Given the description of an element on the screen output the (x, y) to click on. 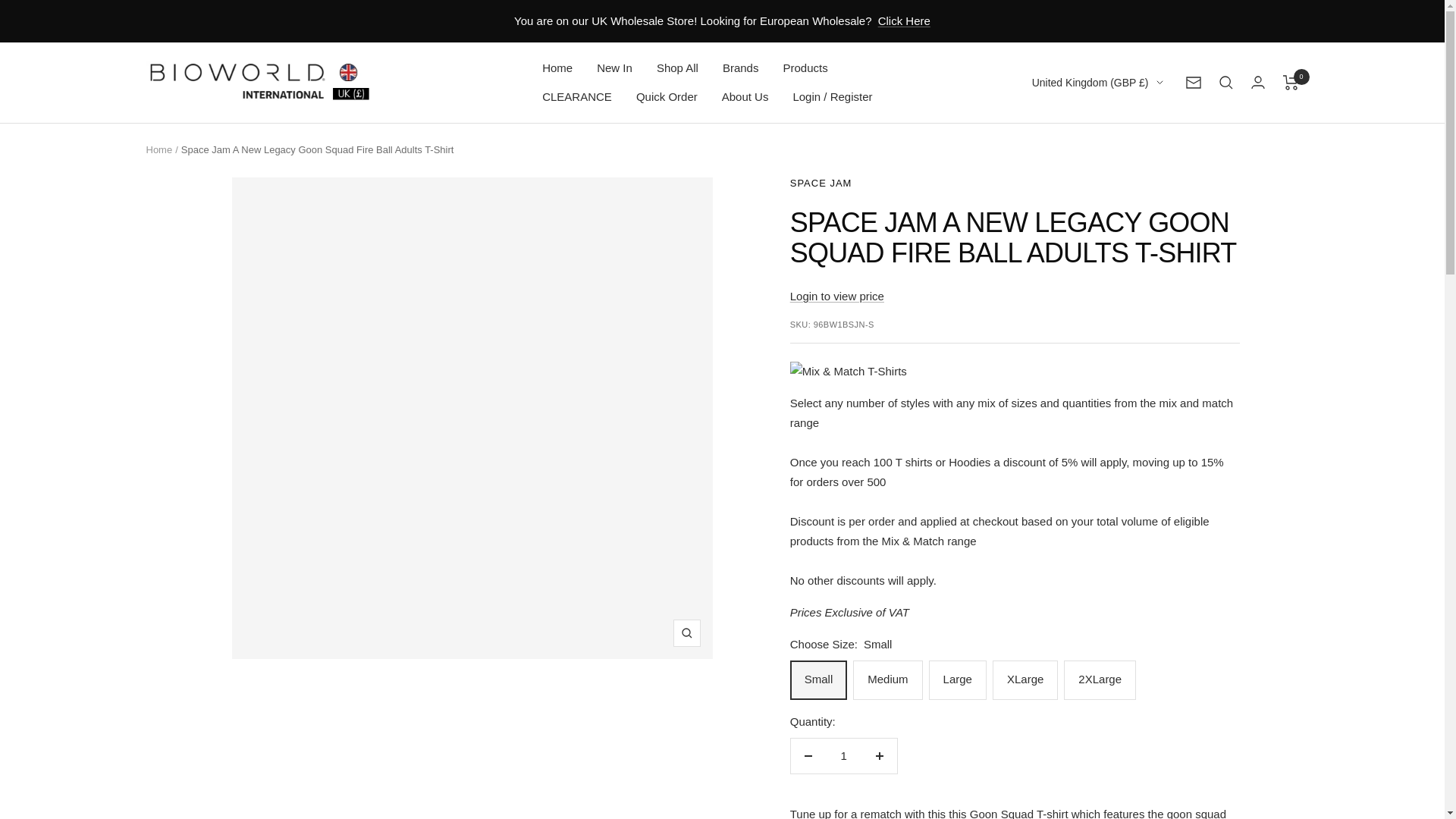
GB (1087, 159)
JE (1087, 134)
Newsletter (1193, 82)
Home (556, 67)
CLEARANCE (576, 96)
Shop All (677, 67)
